Given the description of an element on the screen output the (x, y) to click on. 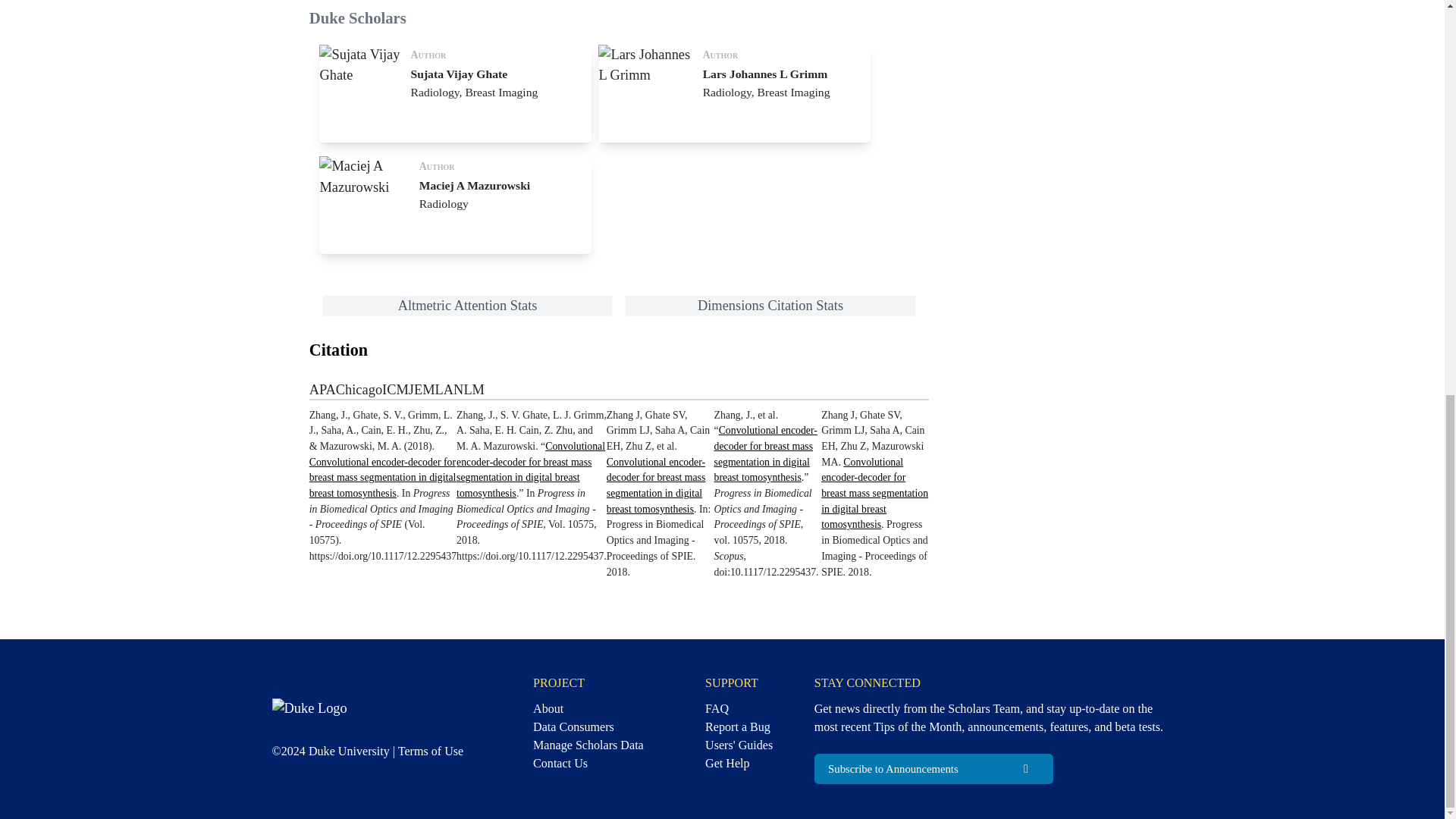
Manage Scholars Data (735, 93)
Terms of Use (587, 745)
Report a Bug (430, 750)
